Given the description of an element on the screen output the (x, y) to click on. 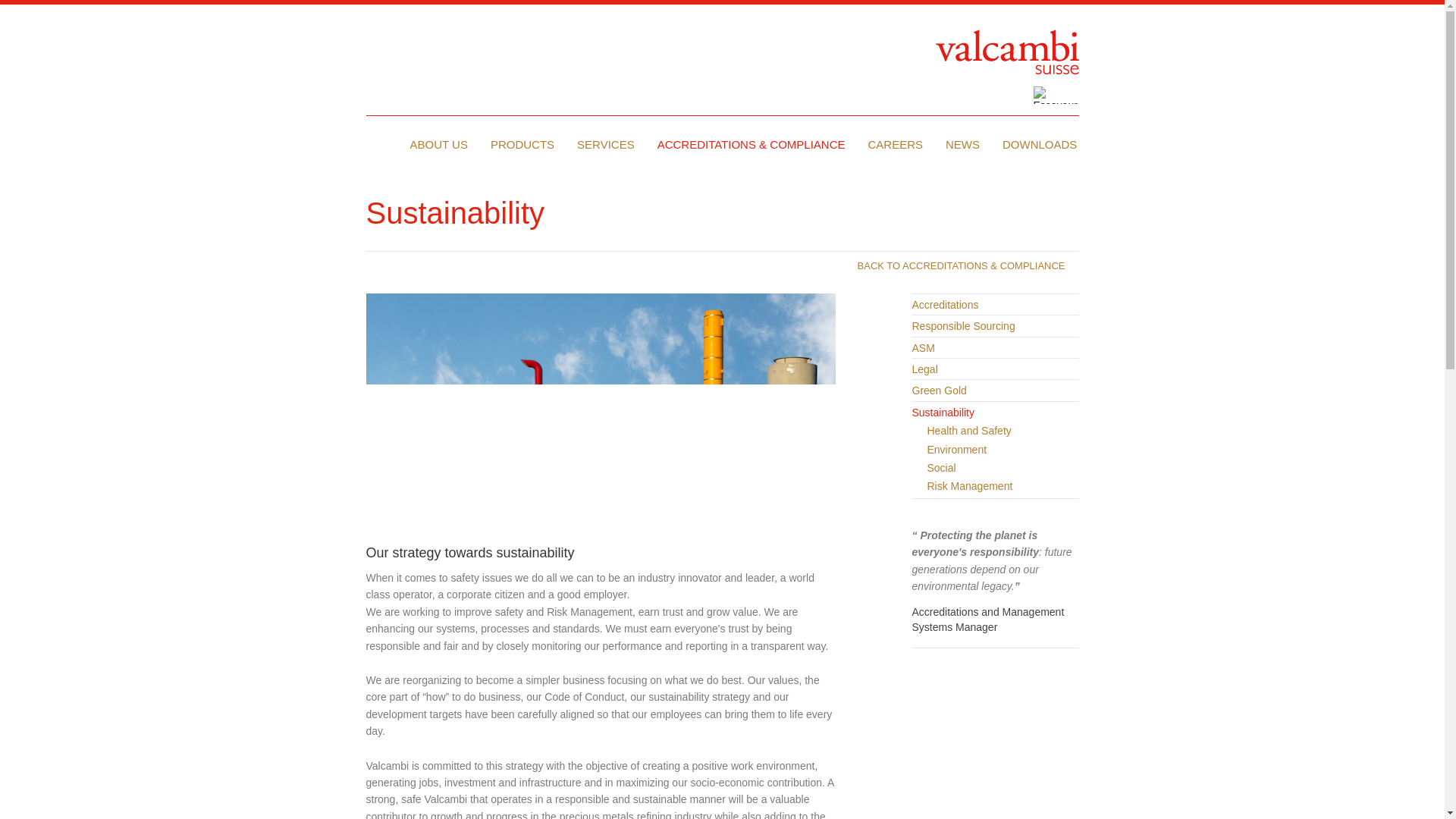
Valcambi (1007, 51)
Sustainability (600, 405)
SERVICES (606, 144)
PRODUCTS (522, 144)
ABOUT US (438, 144)
